Given the description of an element on the screen output the (x, y) to click on. 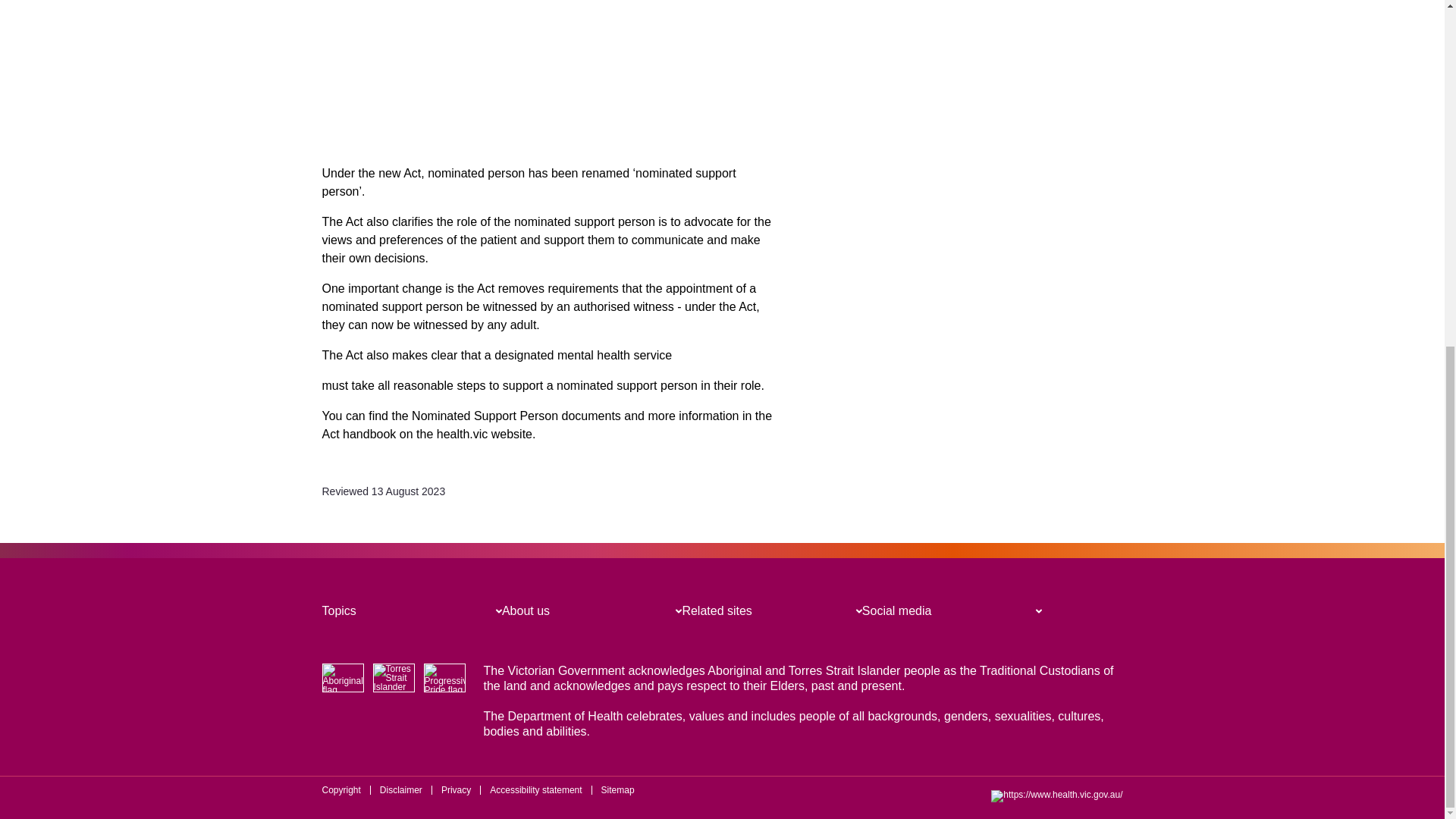
Sitemap (617, 789)
Topics (338, 610)
About us (526, 610)
Accessibility statement (534, 789)
Related sites (716, 610)
Social media (896, 610)
Disclaimer (401, 789)
Privacy (455, 789)
Copyright (340, 789)
